Given the description of an element on the screen output the (x, y) to click on. 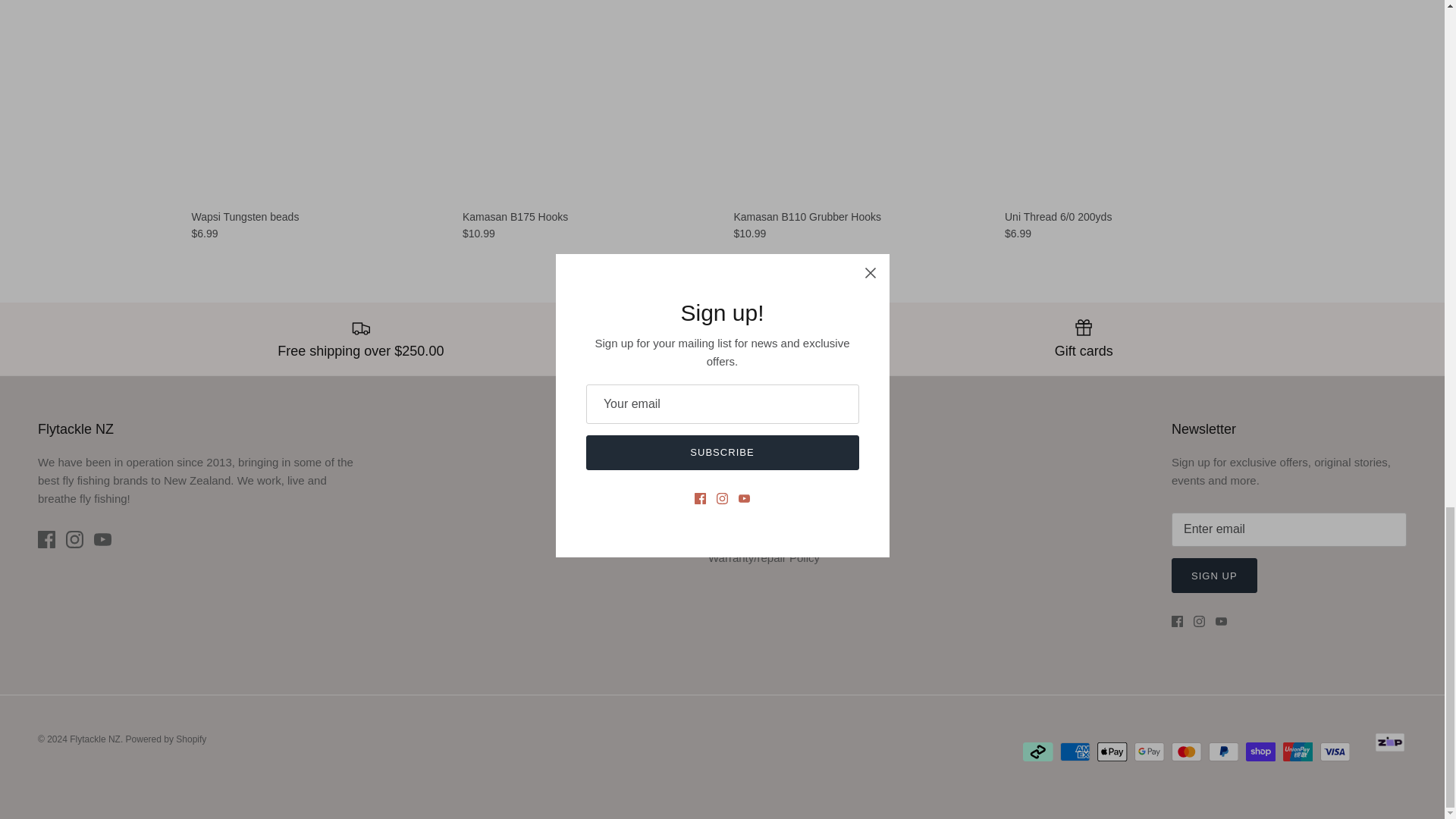
Youtube (103, 538)
Instagram (73, 538)
Youtube (1221, 621)
Instagram (1199, 621)
Facebook (46, 538)
Facebook (1177, 621)
